Given the description of an element on the screen output the (x, y) to click on. 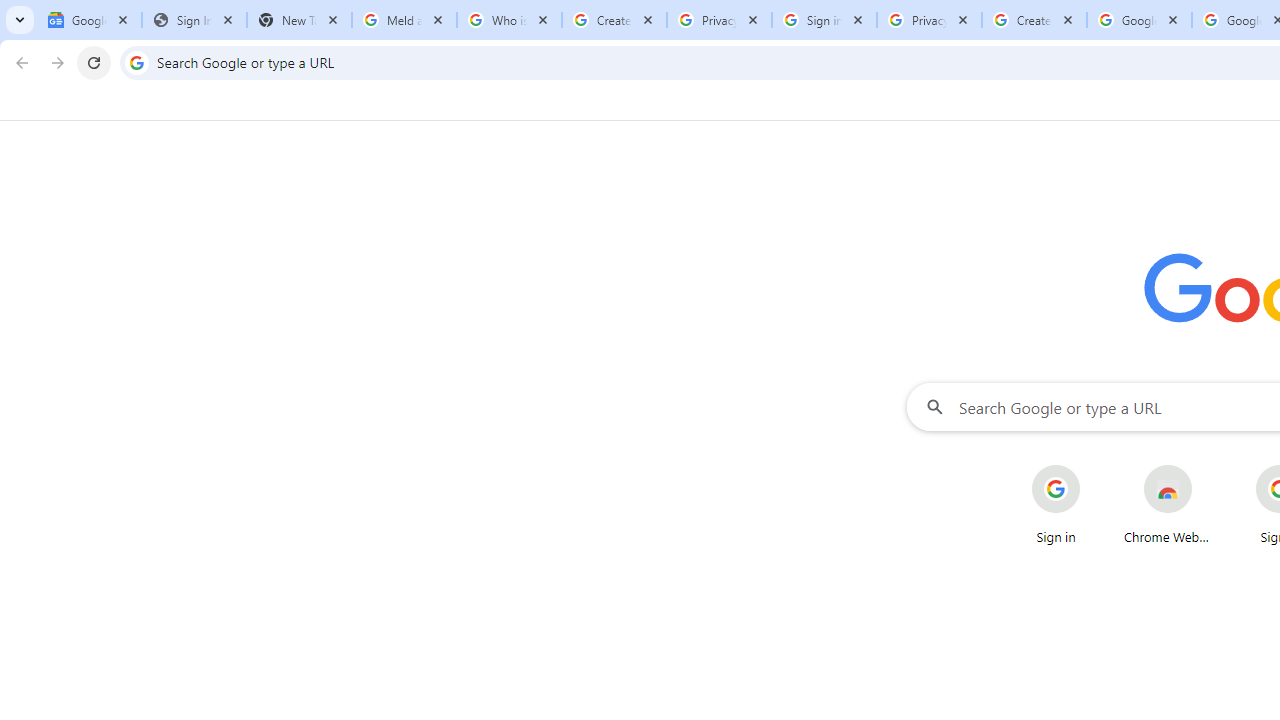
Create your Google Account (613, 20)
Chrome Web Store (1167, 504)
Sign in - Google Accounts (823, 20)
More actions for Sign in shortcut (1095, 466)
Create your Google Account (1033, 20)
